Given the description of an element on the screen output the (x, y) to click on. 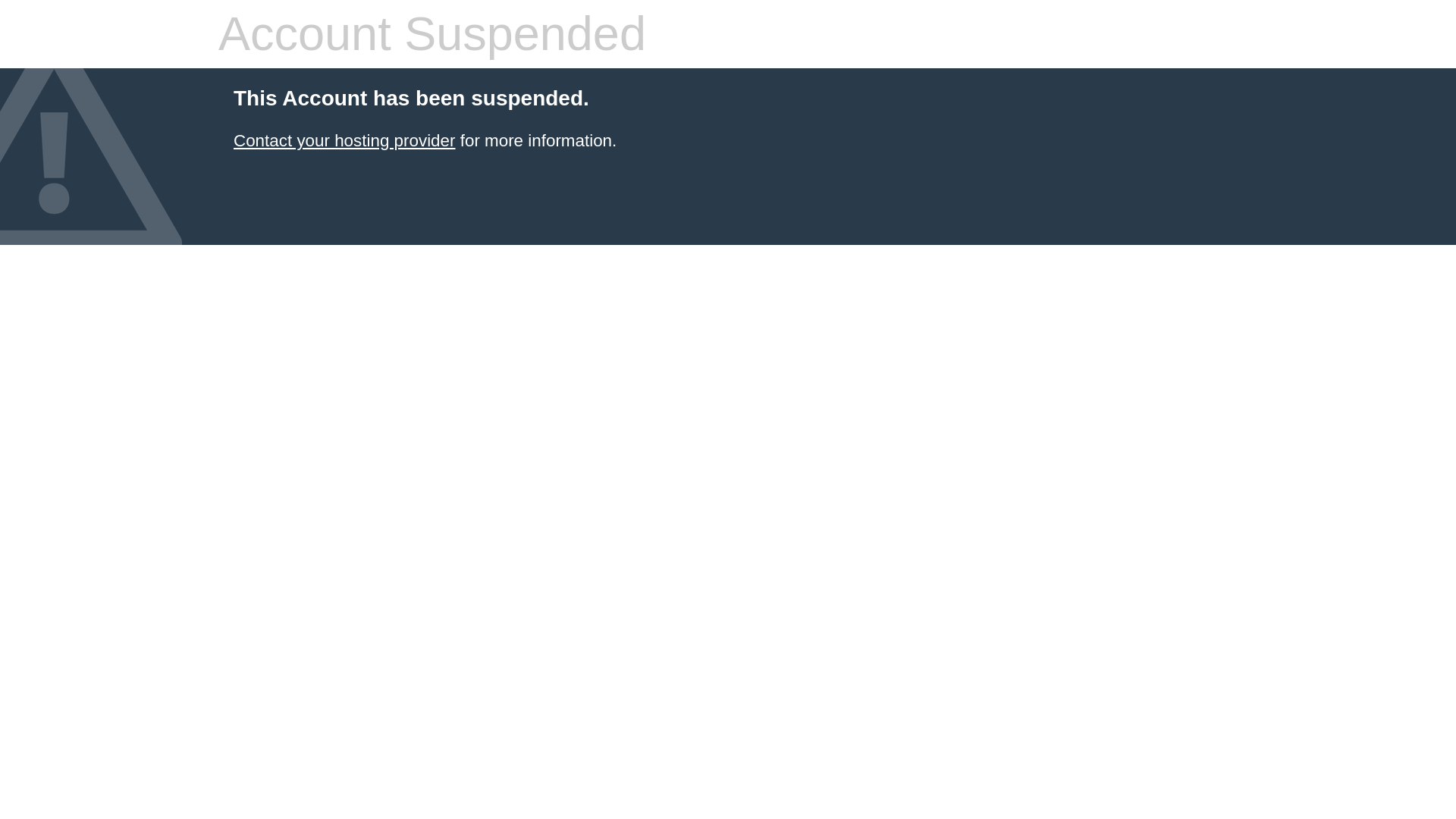
Contact your hosting provider (343, 140)
